Given the description of an element on the screen output the (x, y) to click on. 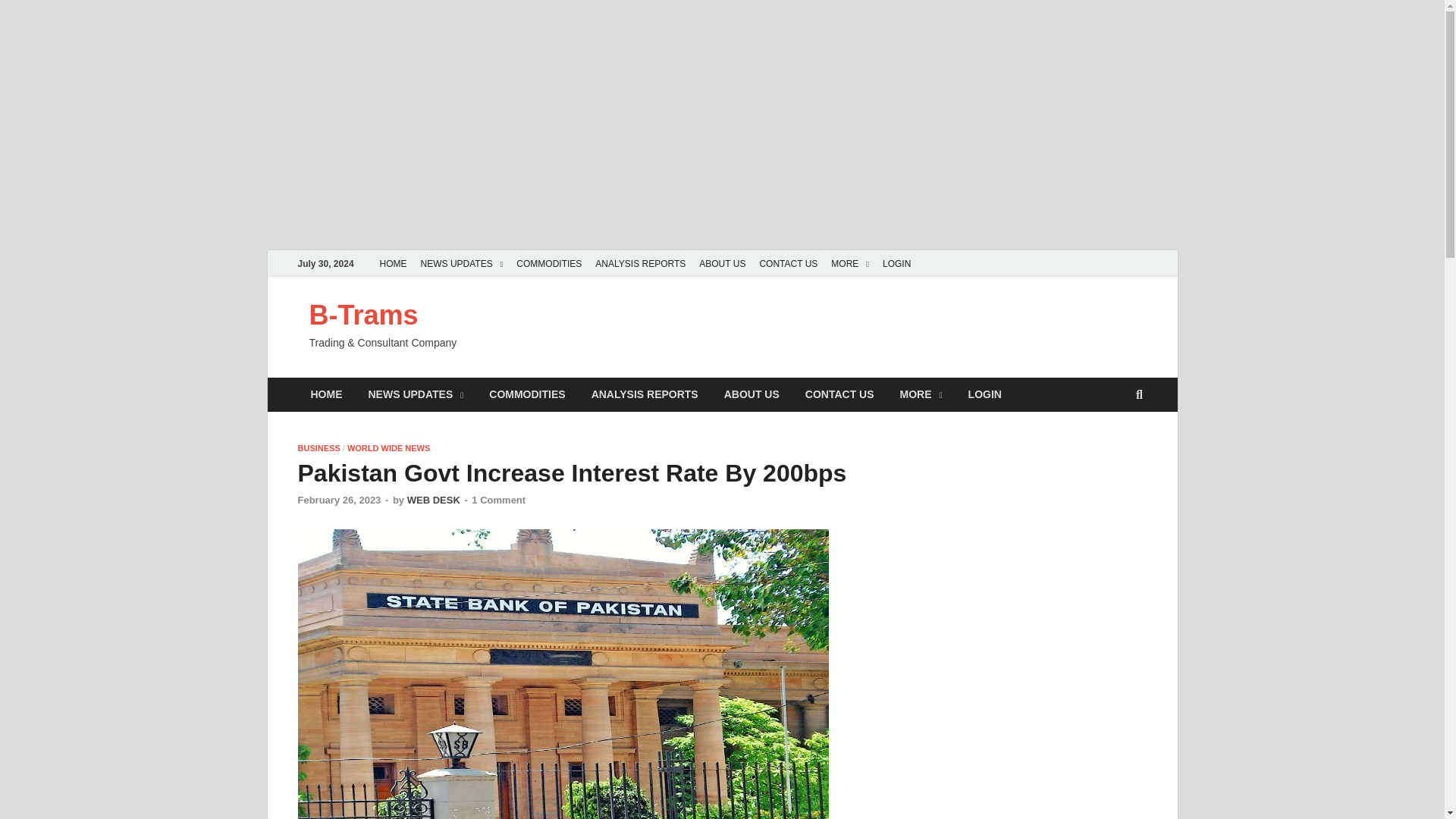
HOME (392, 263)
B-Trams (363, 314)
NEWS UPDATES (462, 263)
ANALYSIS REPORTS (644, 394)
LOGIN (896, 263)
COMMODITIES (527, 394)
HOME (326, 394)
COMMODITIES (548, 263)
ABOUT US (722, 263)
ANALYSIS REPORTS (640, 263)
CONTACT US (788, 263)
MORE (850, 263)
NEWS UPDATES (415, 394)
